Given the description of an element on the screen output the (x, y) to click on. 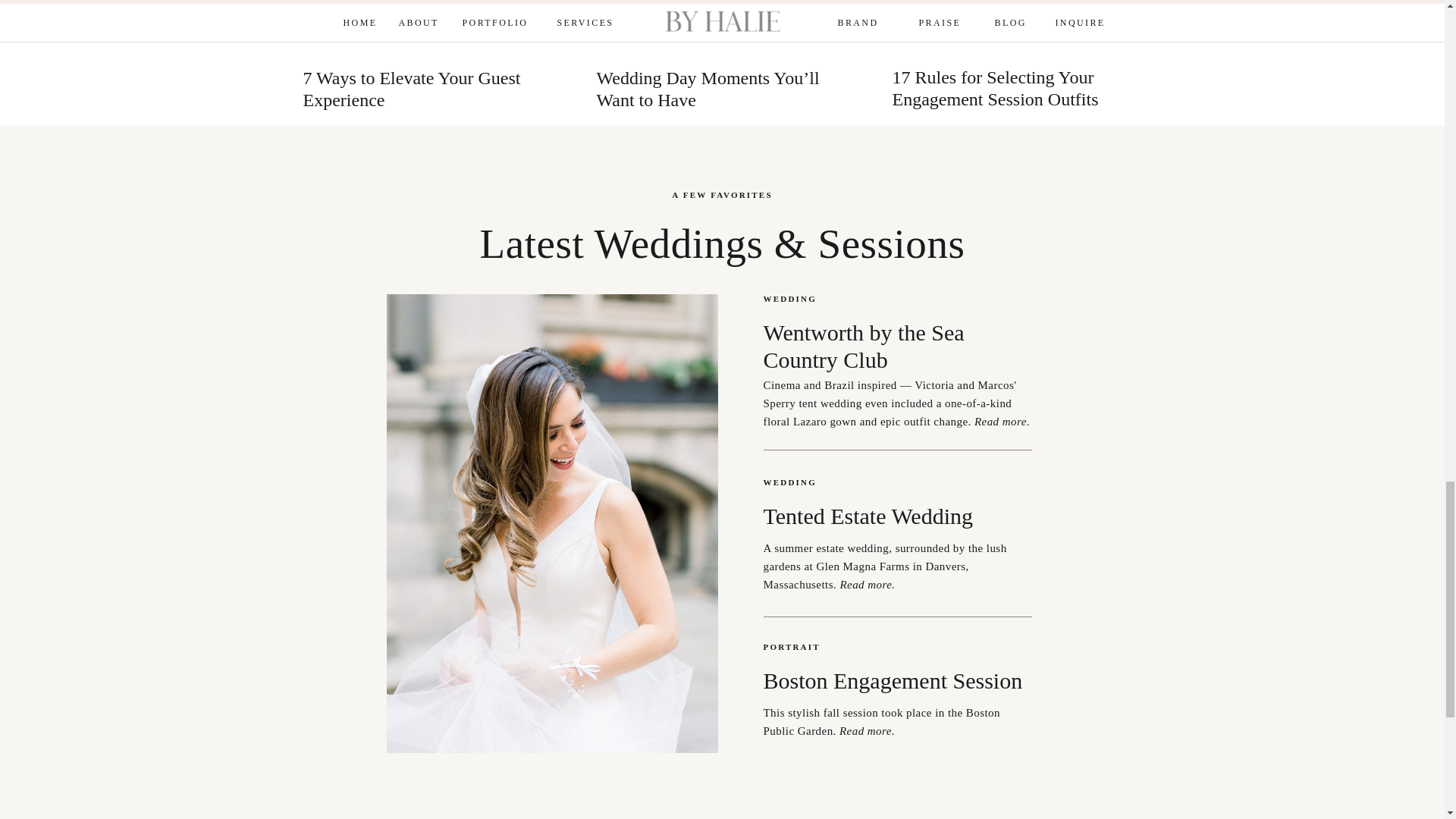
Tented Estate Wedding (910, 519)
17 Rules for Selecting Your Engagement Session Outfits (1014, 88)
WEDDING (805, 299)
WEDDING (805, 483)
7 Ways to Elevate Your Guest Experience (422, 90)
Wentworth by the Sea Country Club (886, 332)
